Given the description of an element on the screen output the (x, y) to click on. 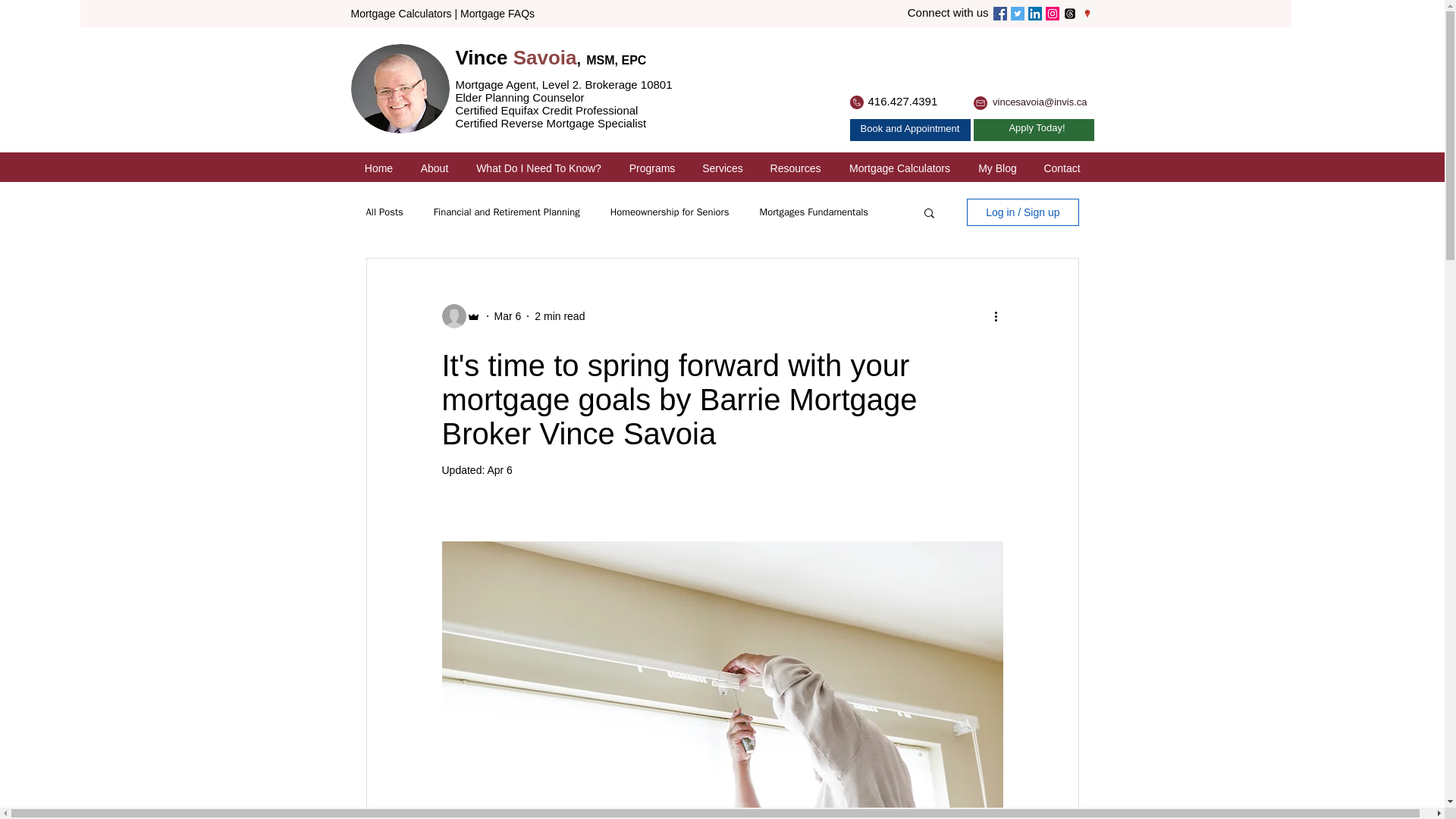
Certified Equifax Credit Professional (545, 116)
Mortgage FAQs (497, 13)
Connect with us (947, 11)
Elder Planning Counselor (518, 97)
Certified Reverse Mortgage Specialist (550, 123)
Mar 6 (508, 316)
What Do I Need To Know? (539, 166)
MSM, EPC (616, 60)
Apply Today! (1036, 127)
Book and Appointment (909, 128)
2 min read (559, 316)
Savoia (544, 56)
Vince (483, 56)
Apr 6 (499, 469)
416.427.4391 (902, 101)
